Given the description of an element on the screen output the (x, y) to click on. 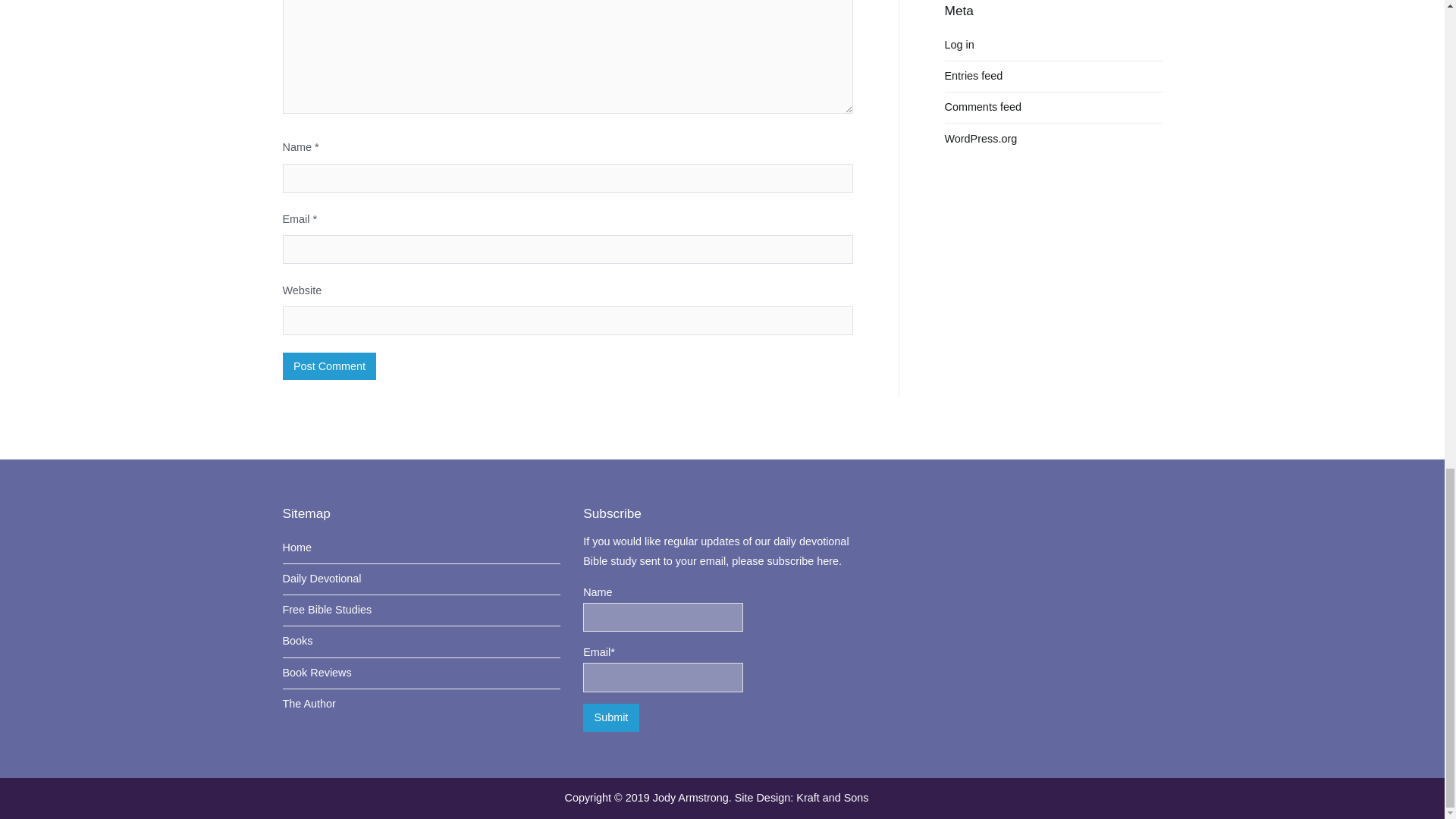
The Author (421, 704)
Book Reviews (421, 673)
Jody Armstrong (690, 797)
WordPress.org (980, 138)
Post Comment (328, 366)
Submit (611, 717)
Home (421, 547)
Free Bible Studies (421, 610)
Entries feed (973, 76)
Daily Devotional (421, 579)
